Given the description of an element on the screen output the (x, y) to click on. 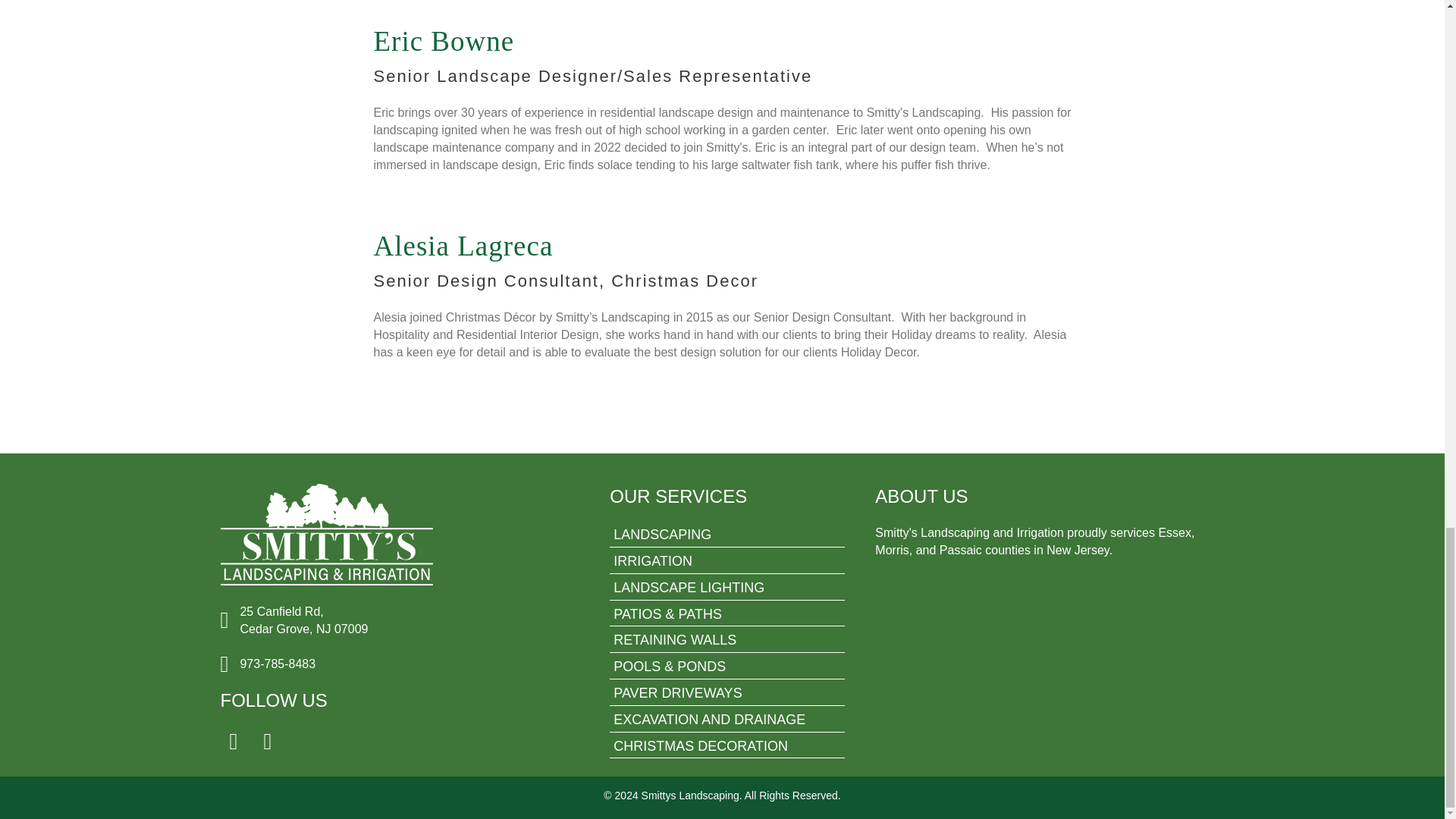
Smittys-logo-revamp-small-white 280 (325, 534)
RETAINING WALLS (727, 640)
Facebook (232, 741)
IRRIGATION (727, 562)
EXCAVATION AND DRAINAGE (727, 720)
LANDSCAPE LIGHTING (727, 588)
973-785-8483 (277, 663)
PAVER DRIVEWAYS (727, 693)
LANDSCAPING (727, 535)
CHRISTMAS DECORATION (727, 747)
